Given the description of an element on the screen output the (x, y) to click on. 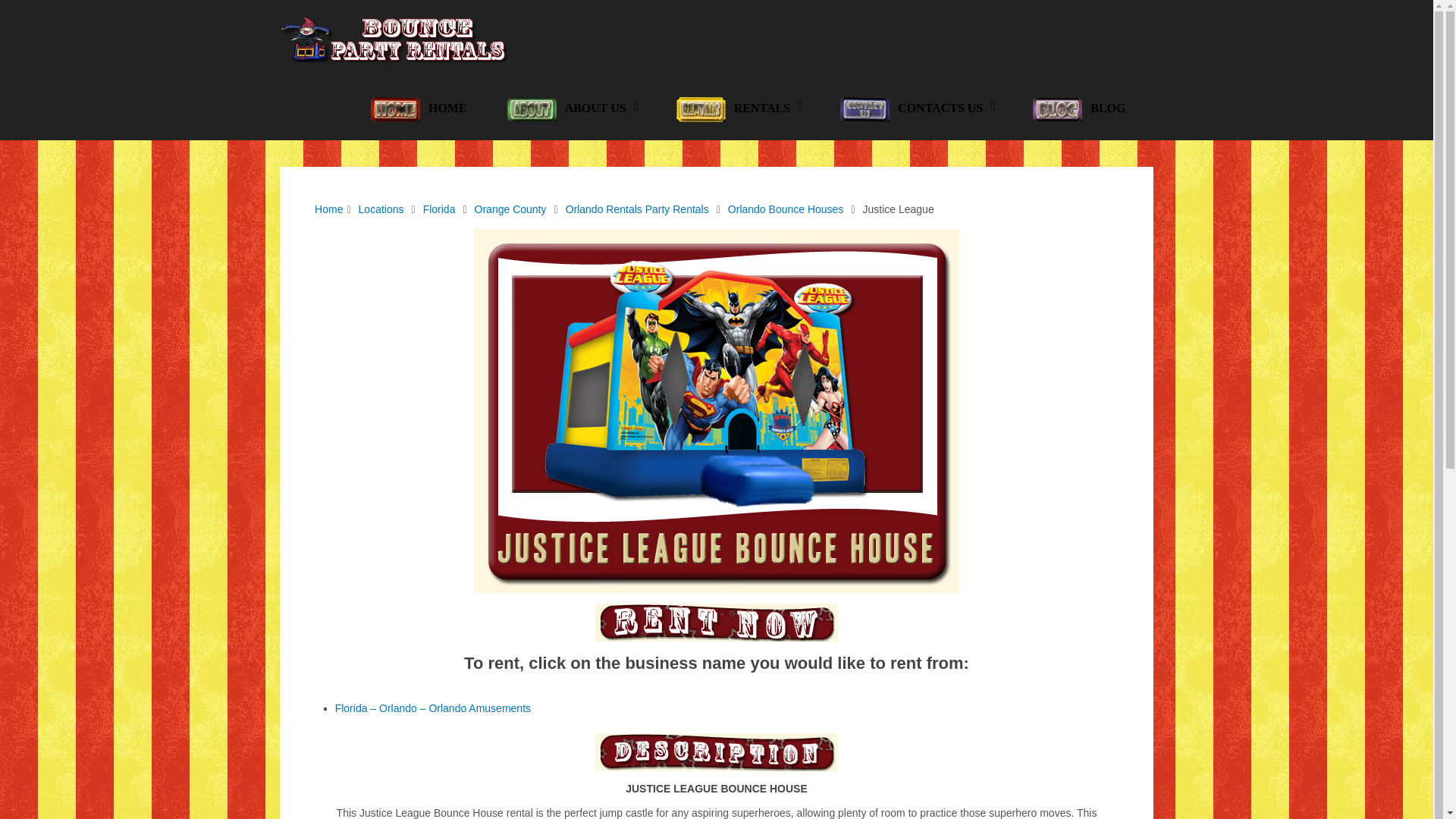
CONTACTS US (914, 109)
ABOUT US (570, 109)
BLOG (1077, 109)
RENTALS (736, 109)
HOME (417, 109)
